Given the description of an element on the screen output the (x, y) to click on. 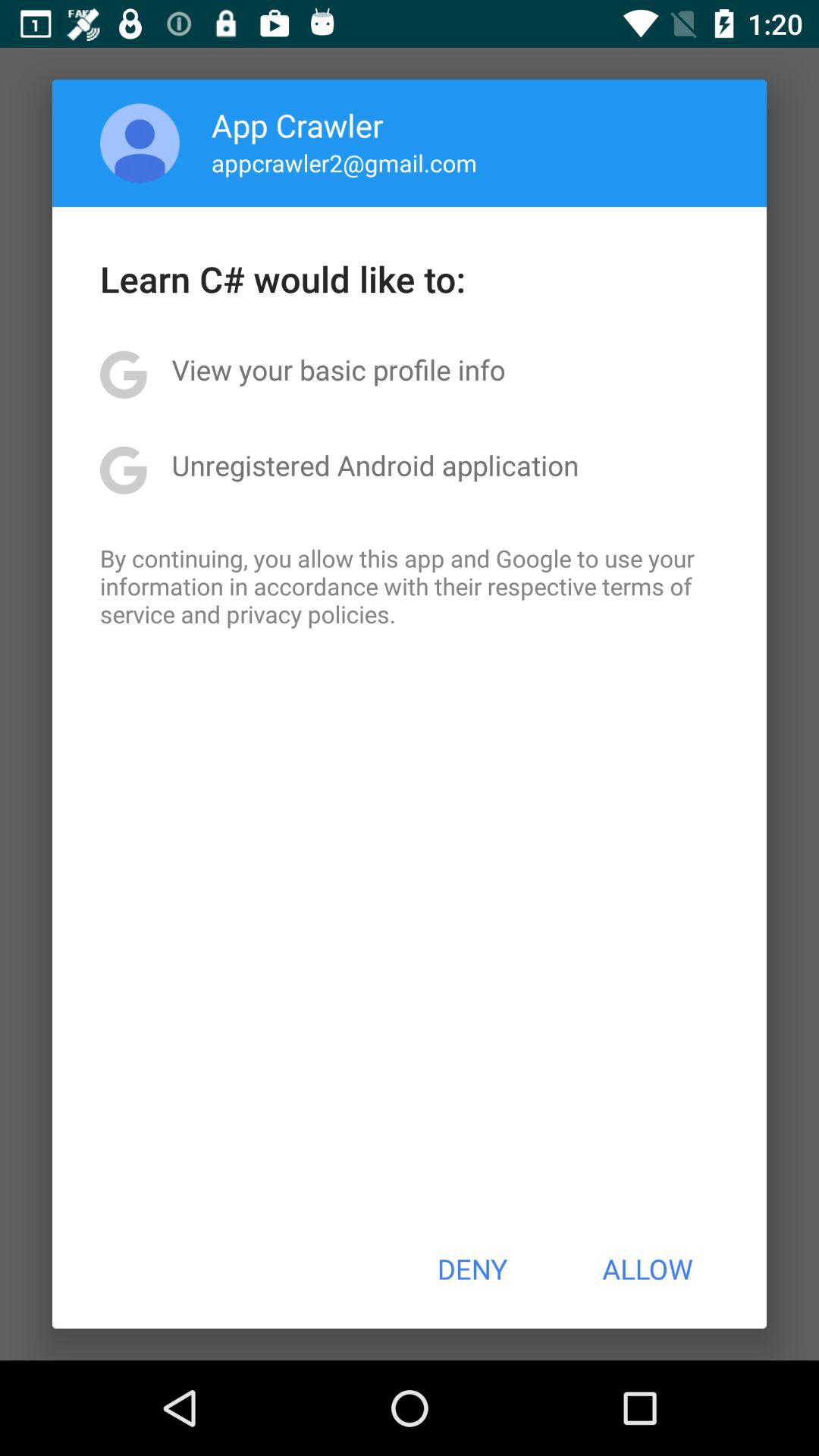
turn off the app below the by continuing you app (471, 1268)
